Given the description of an element on the screen output the (x, y) to click on. 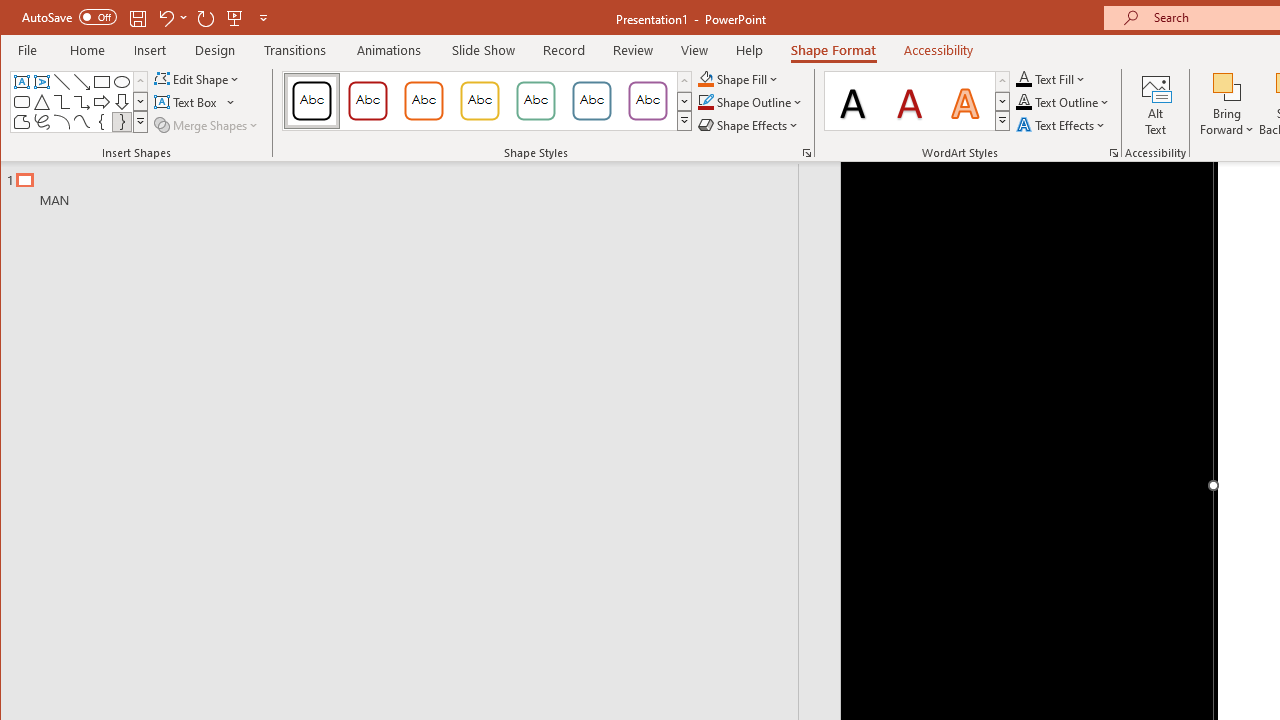
Text Fill RGB(0, 0, 0) (1023, 78)
Colored Outline - Dark Red, Accent 1 (367, 100)
Fill: Dark Red, Accent color 1; Shadow (909, 100)
Colored Outline - Gold, Accent 3 (479, 100)
